Given the description of an element on the screen output the (x, y) to click on. 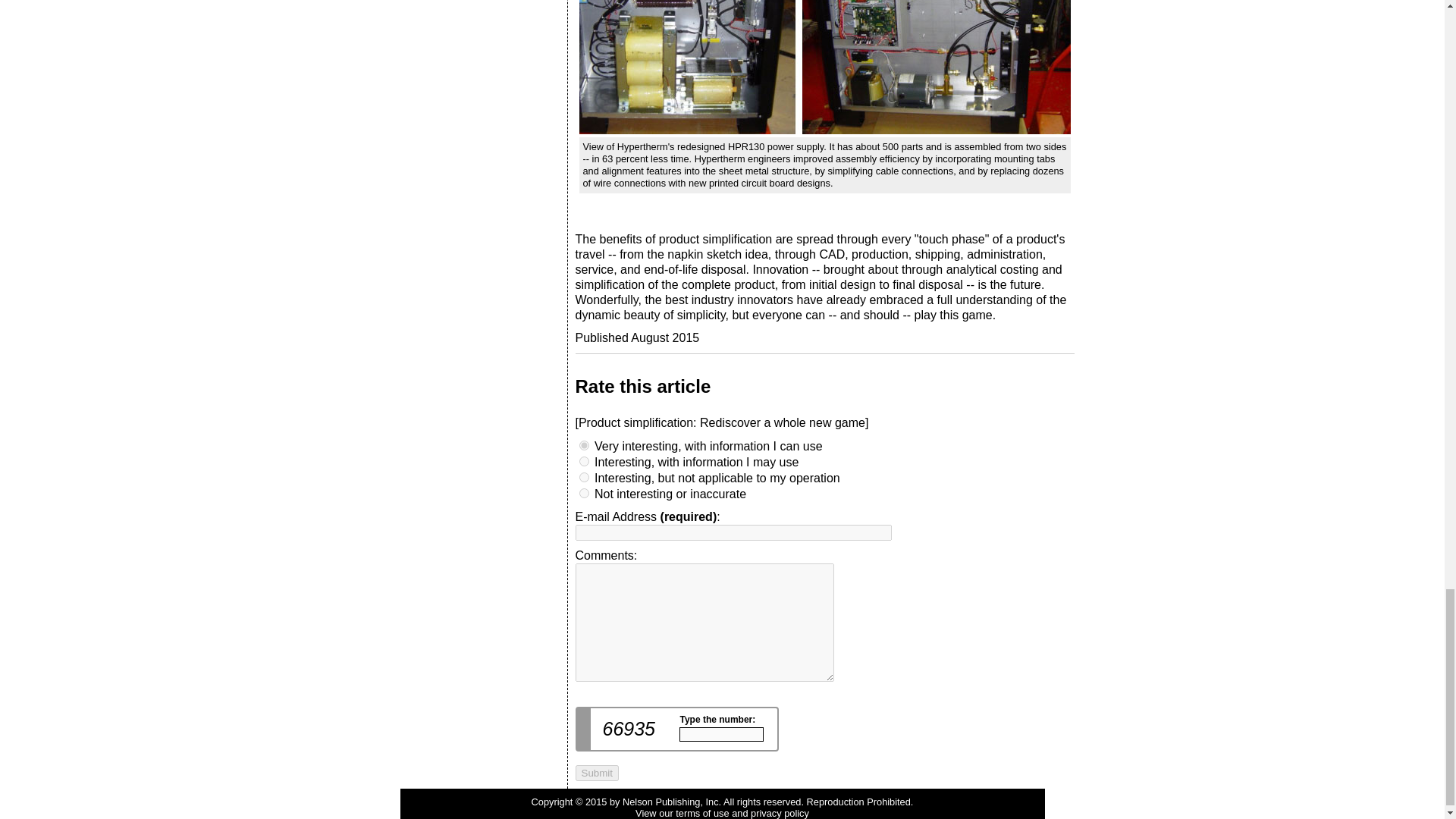
Submit (596, 772)
3 (584, 445)
Submit (596, 772)
1 (584, 477)
0 (584, 492)
2 (584, 461)
